Given the description of an element on the screen output the (x, y) to click on. 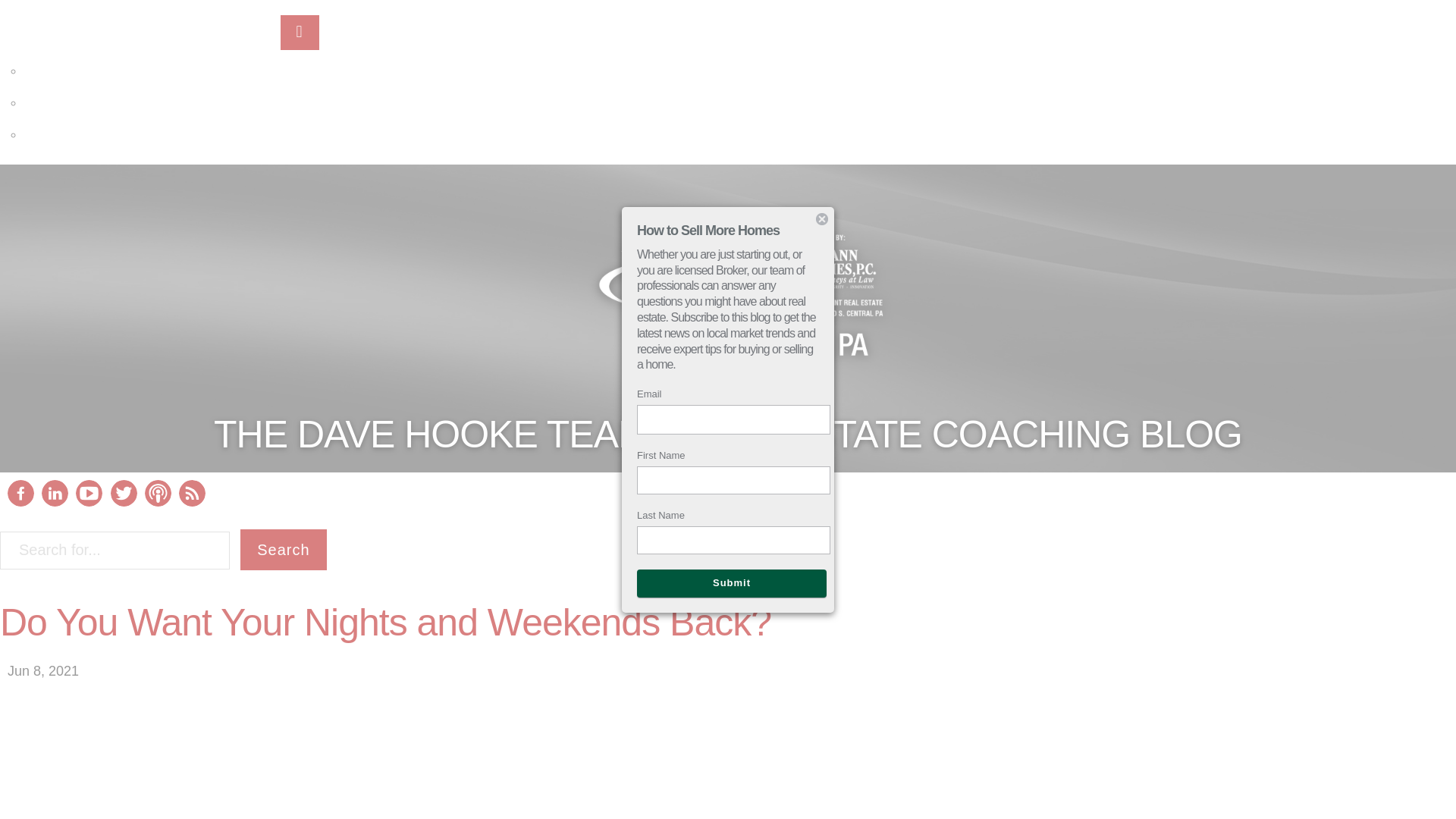
Linkedin (55, 492)
Contact (58, 113)
Twitter (123, 492)
rss (192, 492)
YouTube (88, 501)
Podcast (157, 492)
Facbook (20, 503)
Twitter (123, 501)
rss (192, 501)
Linkedin (55, 502)
TOGGLE NAVIGATION (295, 13)
Podcast (157, 501)
THE DAVE HOOKE TEAM COACHING (137, 20)
THE DAVE HOOKE TEAM - REAL ESTATE COACHING BLOG (725, 440)
YouTube (88, 492)
